Given the description of an element on the screen output the (x, y) to click on. 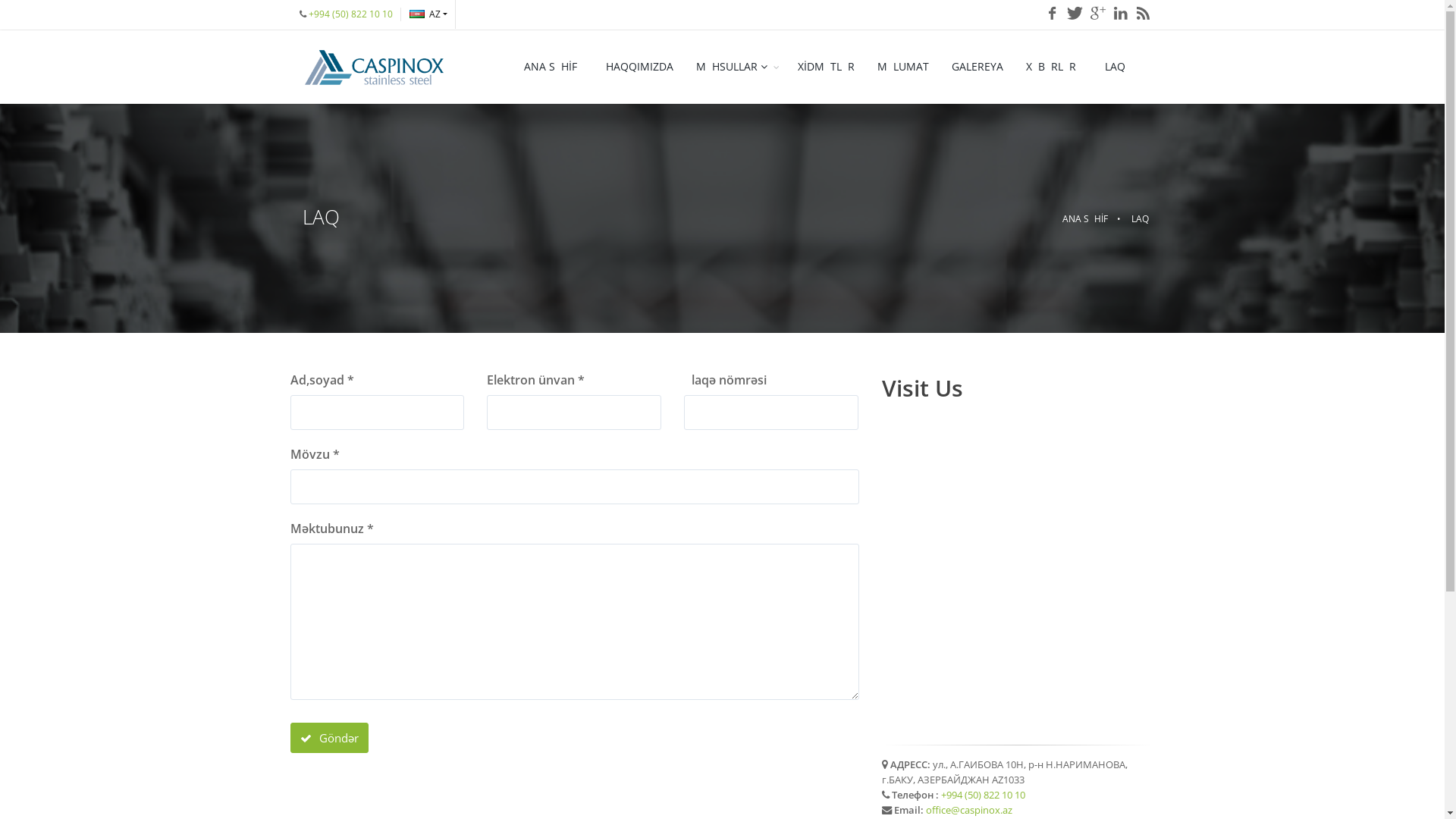
HAQQIMIZDA Element type: text (639, 66)
+994 (50) 822 10 10 Element type: text (982, 794)
office@caspinox.az Element type: text (968, 809)
AZ Element type: text (428, 14)
+994 (50) 822 10 10 Element type: text (349, 13)
GALEREYA Element type: text (977, 66)
